Given the description of an element on the screen output the (x, y) to click on. 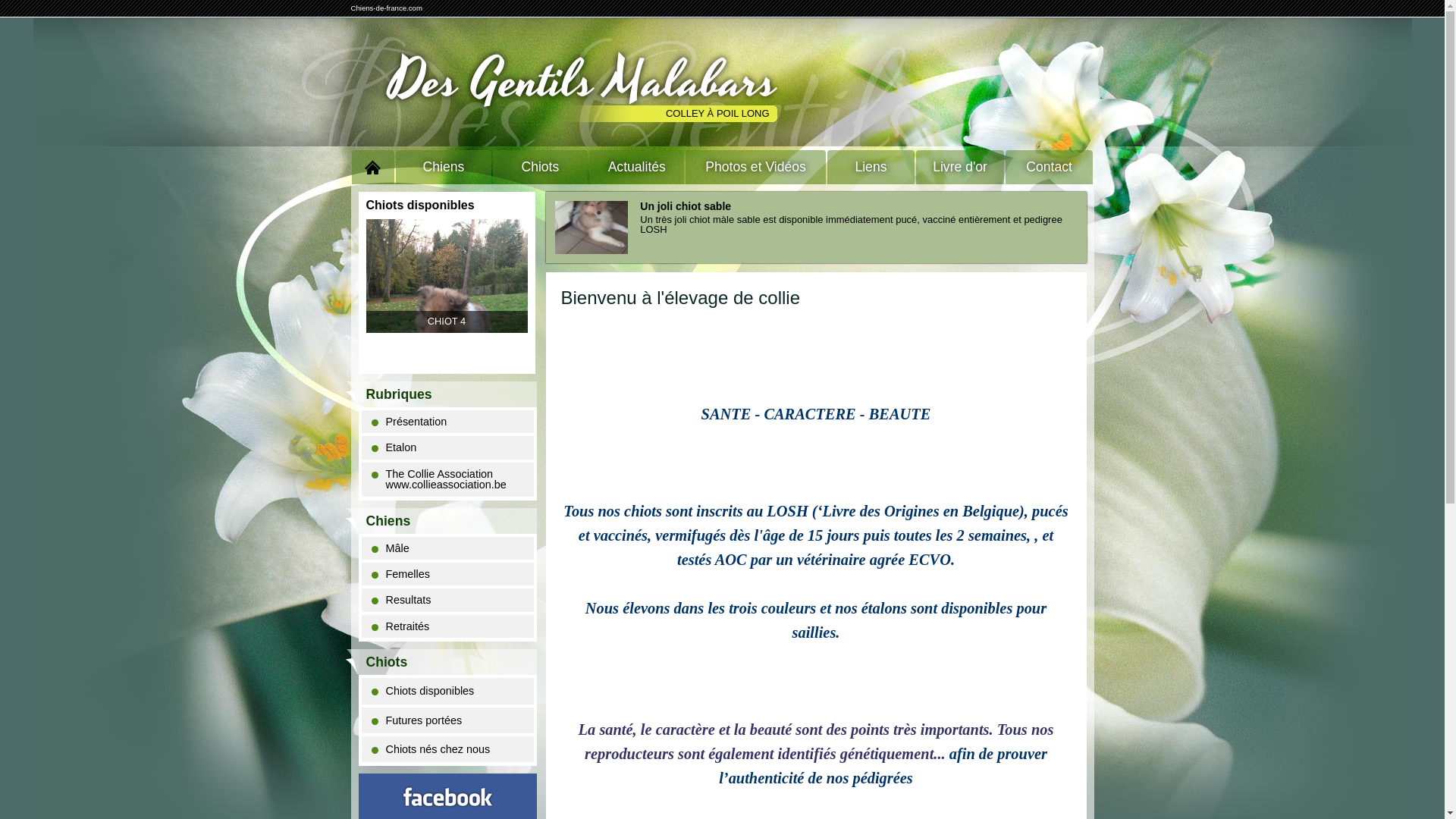
Chiens Element type: text (442, 167)
Femelles Element type: text (446, 573)
The Collie Association www.collieassociation.be Element type: text (446, 479)
Liens Element type: text (871, 167)
Chiots Element type: text (539, 167)
Des Gentils Malabars Element type: text (582, 81)
Resultats Element type: text (446, 599)
Etalon Element type: text (446, 447)
Accueil Element type: hover (373, 167)
Livre d'or Element type: text (960, 167)
Contact Element type: text (1049, 167)
Chiens-de-france.com Element type: text (385, 8)
CHIOT 4 Element type: text (446, 275)
Chiots disponibles Element type: text (446, 690)
